Given the description of an element on the screen output the (x, y) to click on. 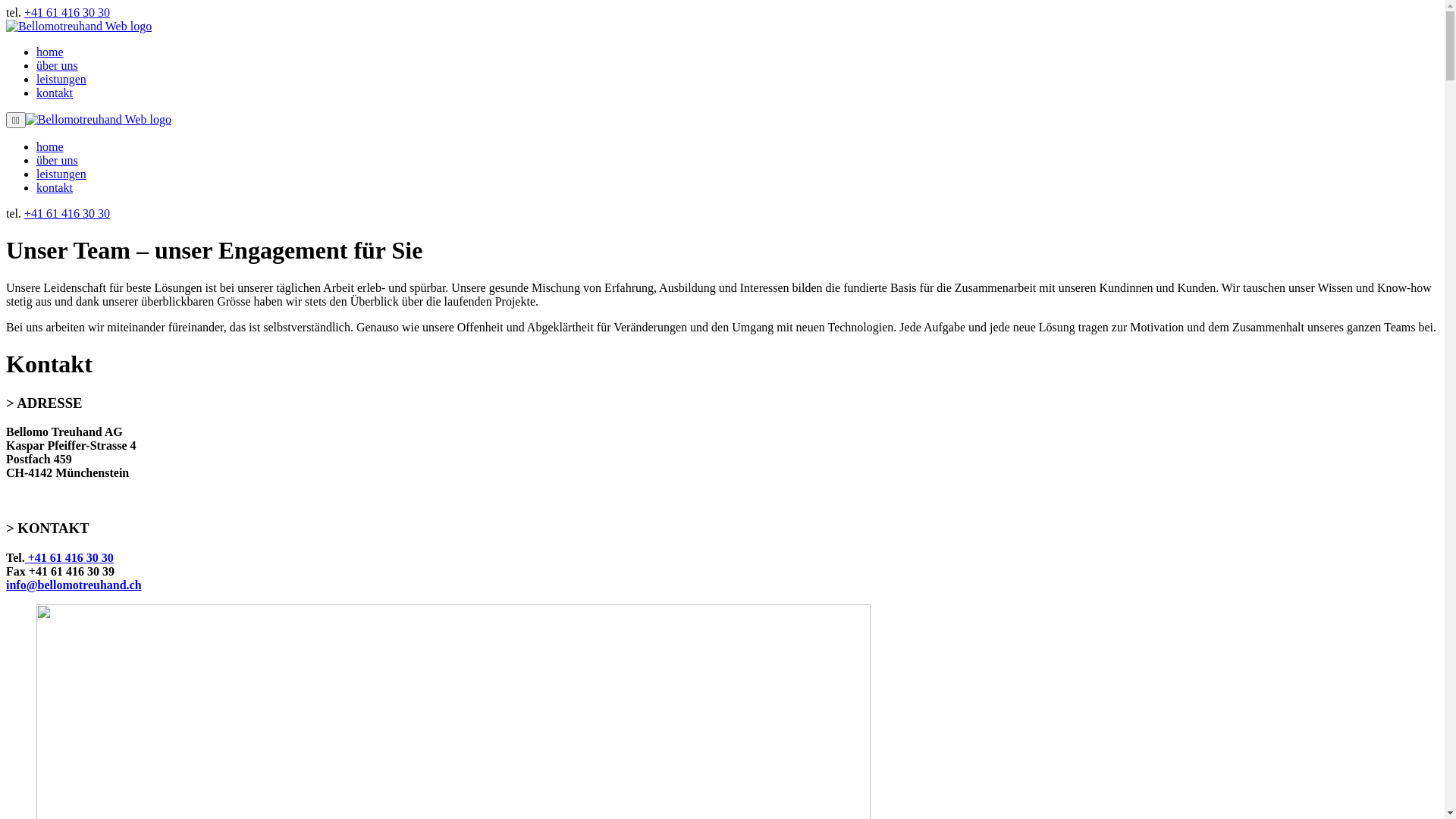
home Element type: text (49, 146)
leistungen Element type: text (61, 173)
+41 61 416 30 30 Element type: text (66, 213)
kontakt Element type: text (54, 92)
+41 61 416 30 30 Element type: text (66, 12)
leistungen Element type: text (61, 78)
kontakt Element type: text (54, 187)
+41 61 416 30 30 Element type: text (69, 557)
home Element type: text (49, 51)
info@bellomotreuhand.ch Element type: text (73, 584)
